Given the description of an element on the screen output the (x, y) to click on. 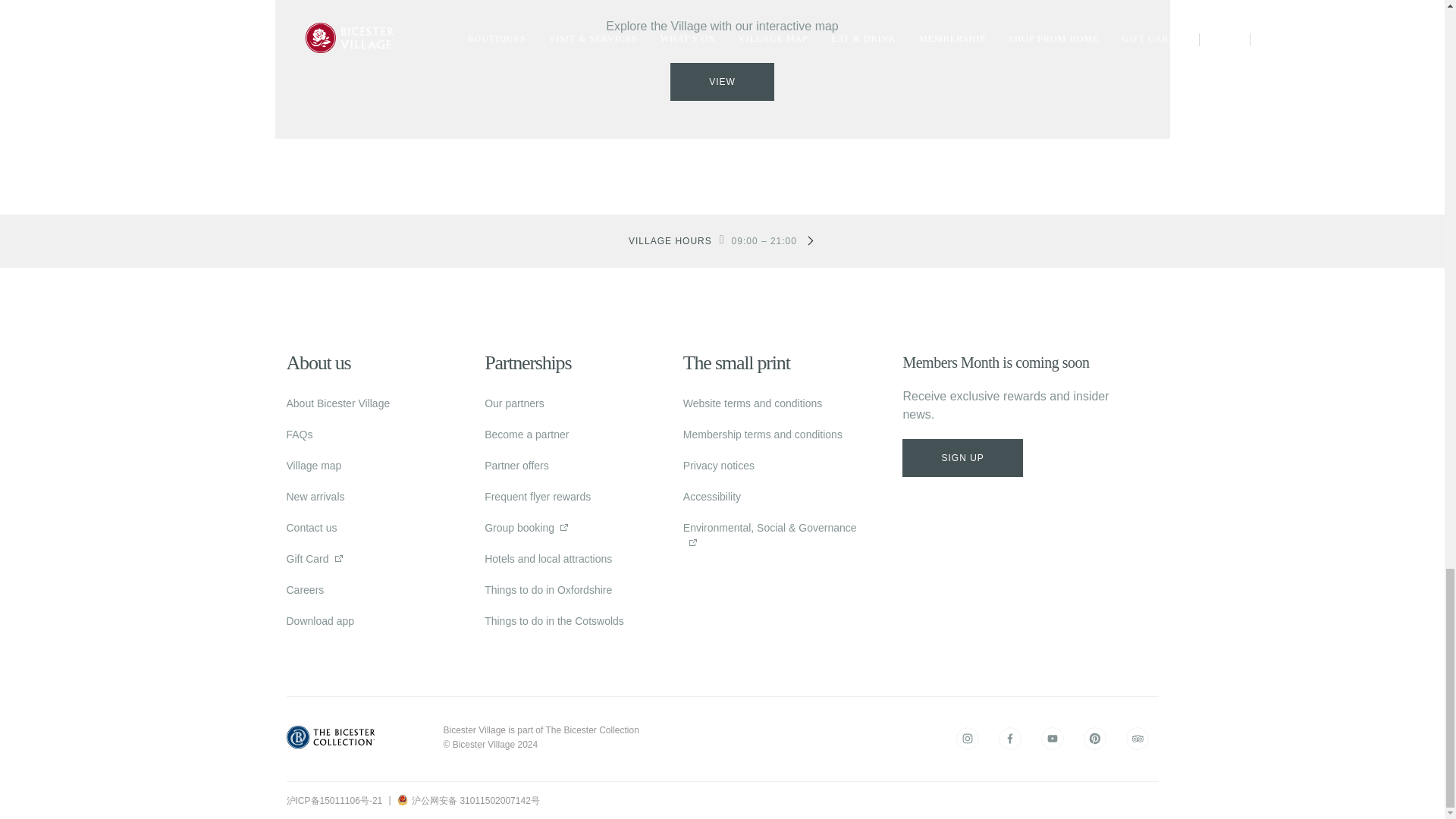
FAQs (299, 434)
Our partners (514, 403)
Contact us (311, 527)
Gift Card (307, 558)
Group booking (519, 527)
Download app (320, 621)
VIEW (721, 81)
Become a partner (526, 434)
Careers (305, 590)
Partner offers (516, 465)
